Given the description of an element on the screen output the (x, y) to click on. 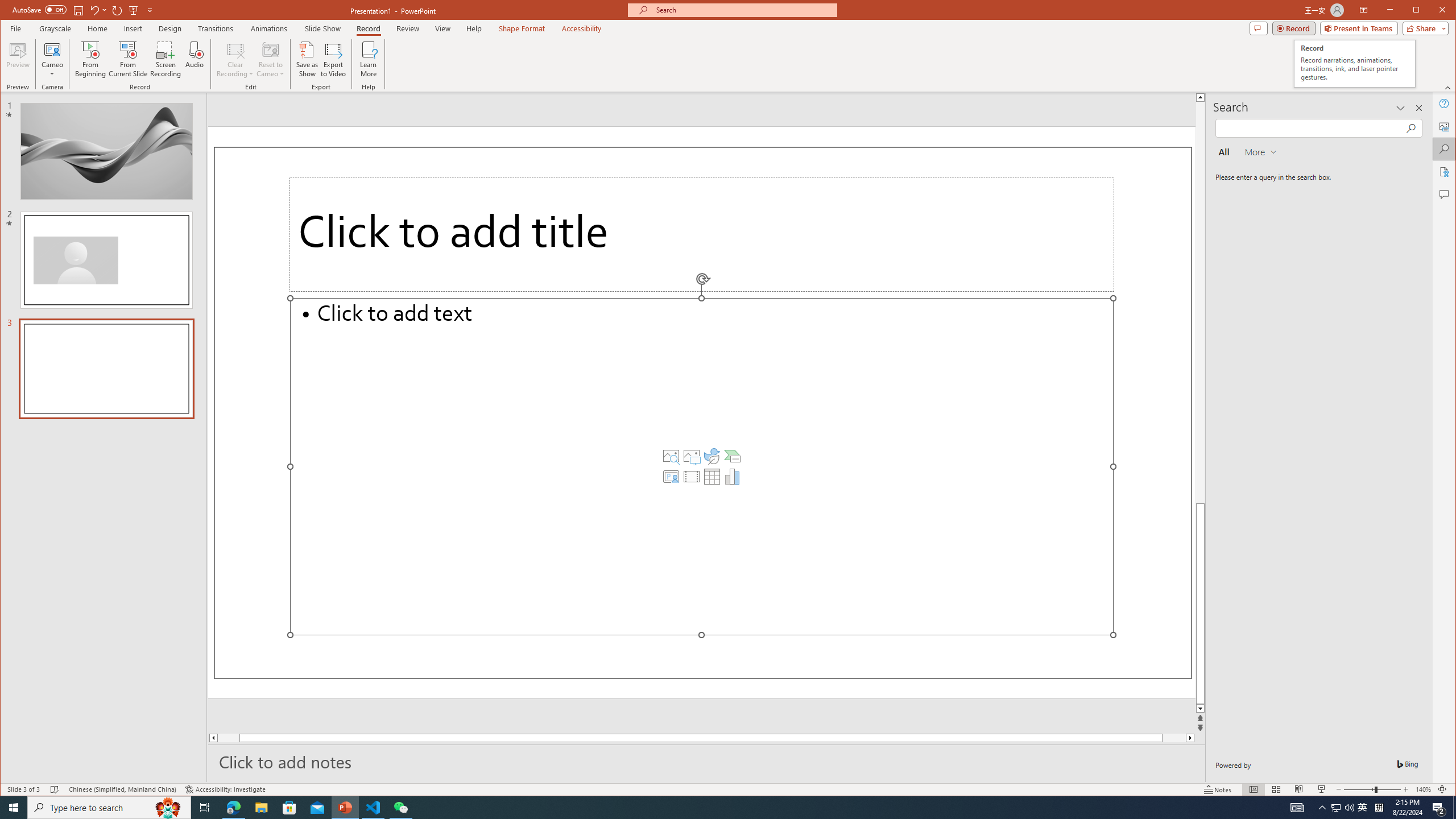
Content Placeholder (701, 466)
